Given the description of an element on the screen output the (x, y) to click on. 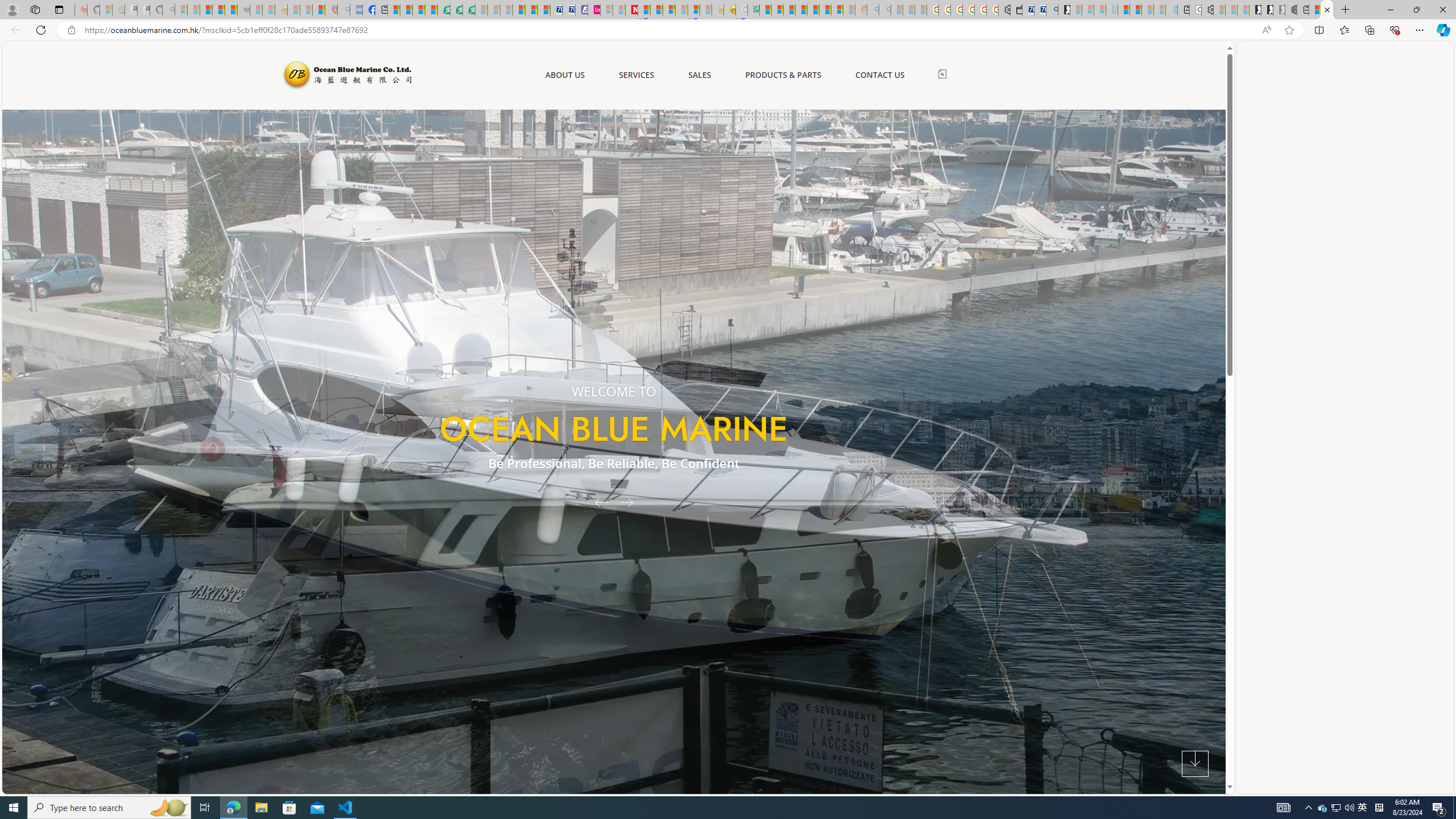
SALES (699, 74)
Wallet (1016, 9)
CONTACT US (879, 74)
